Given the description of an element on the screen output the (x, y) to click on. 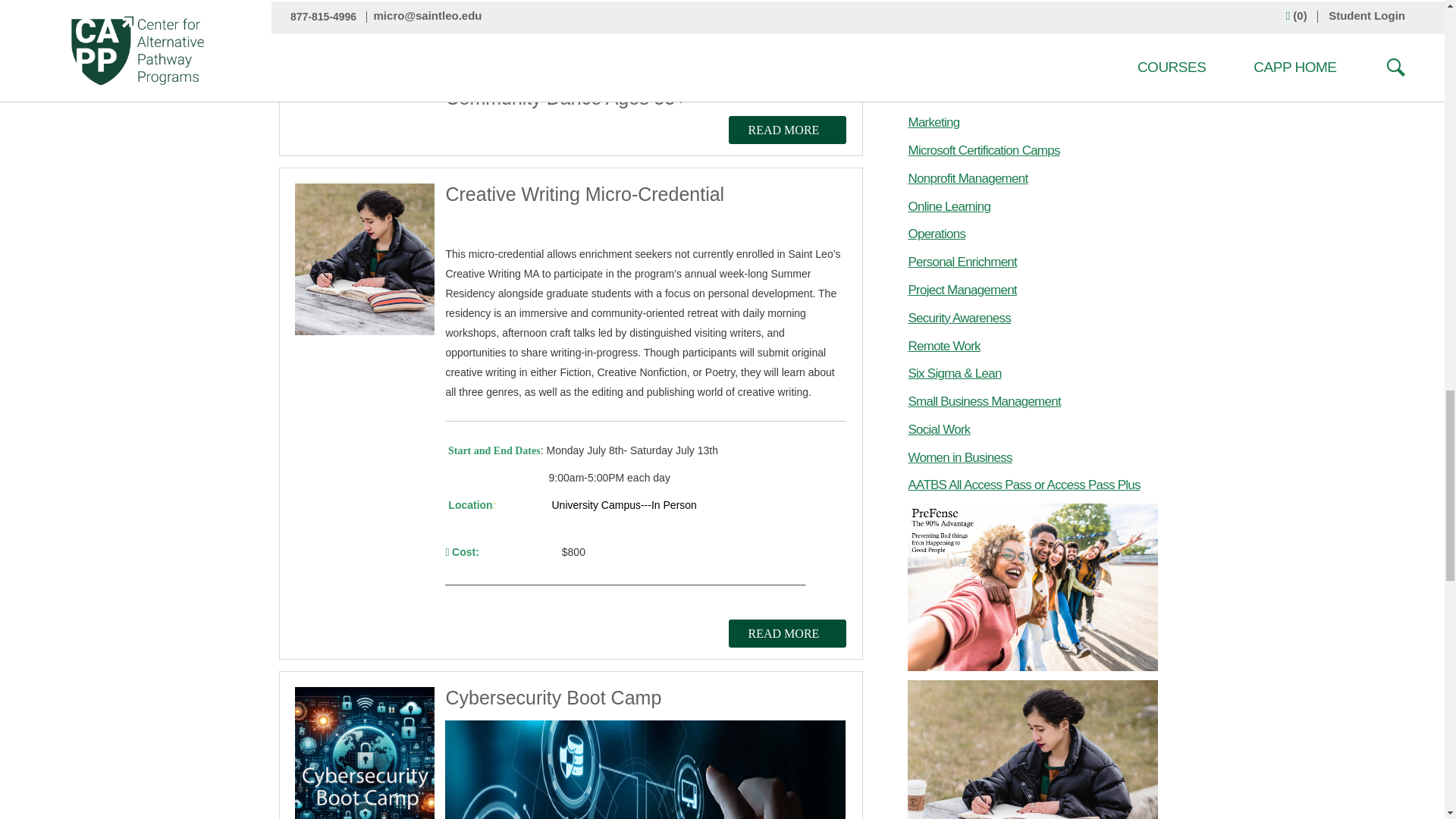
CybersecurityBootcampbanner (645, 769)
